Given the description of an element on the screen output the (x, y) to click on. 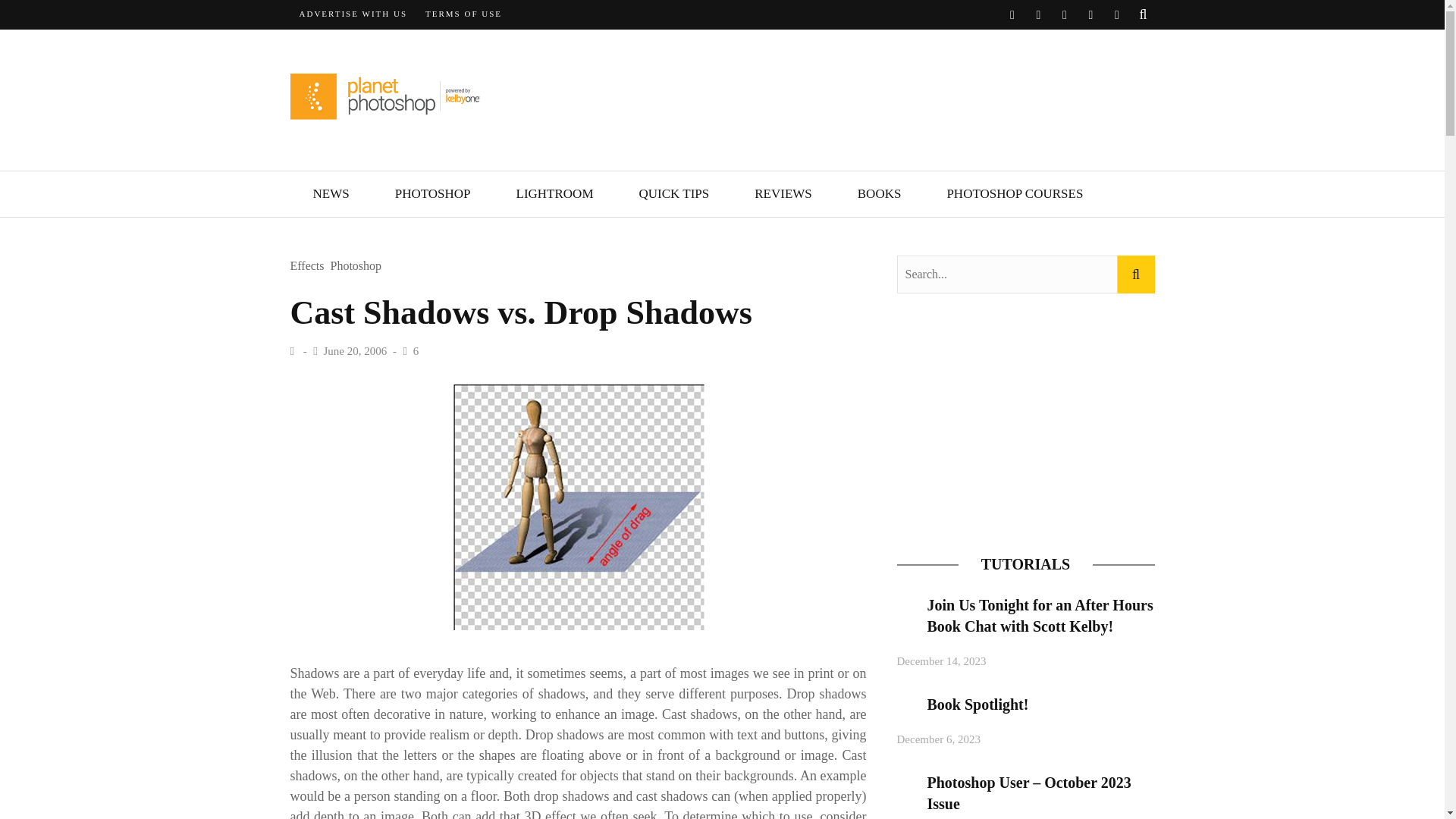
QUICK TIPS (673, 194)
ADVERTISE WITH US (352, 13)
TERMS OF USE (463, 13)
PHOTOSHOP COURSES (1014, 194)
PHOTOSHOP (432, 194)
LIGHTROOM (554, 194)
BOOKS (879, 194)
REVIEWS (783, 194)
NEWS (330, 194)
Photoshop (355, 266)
